Given the description of an element on the screen output the (x, y) to click on. 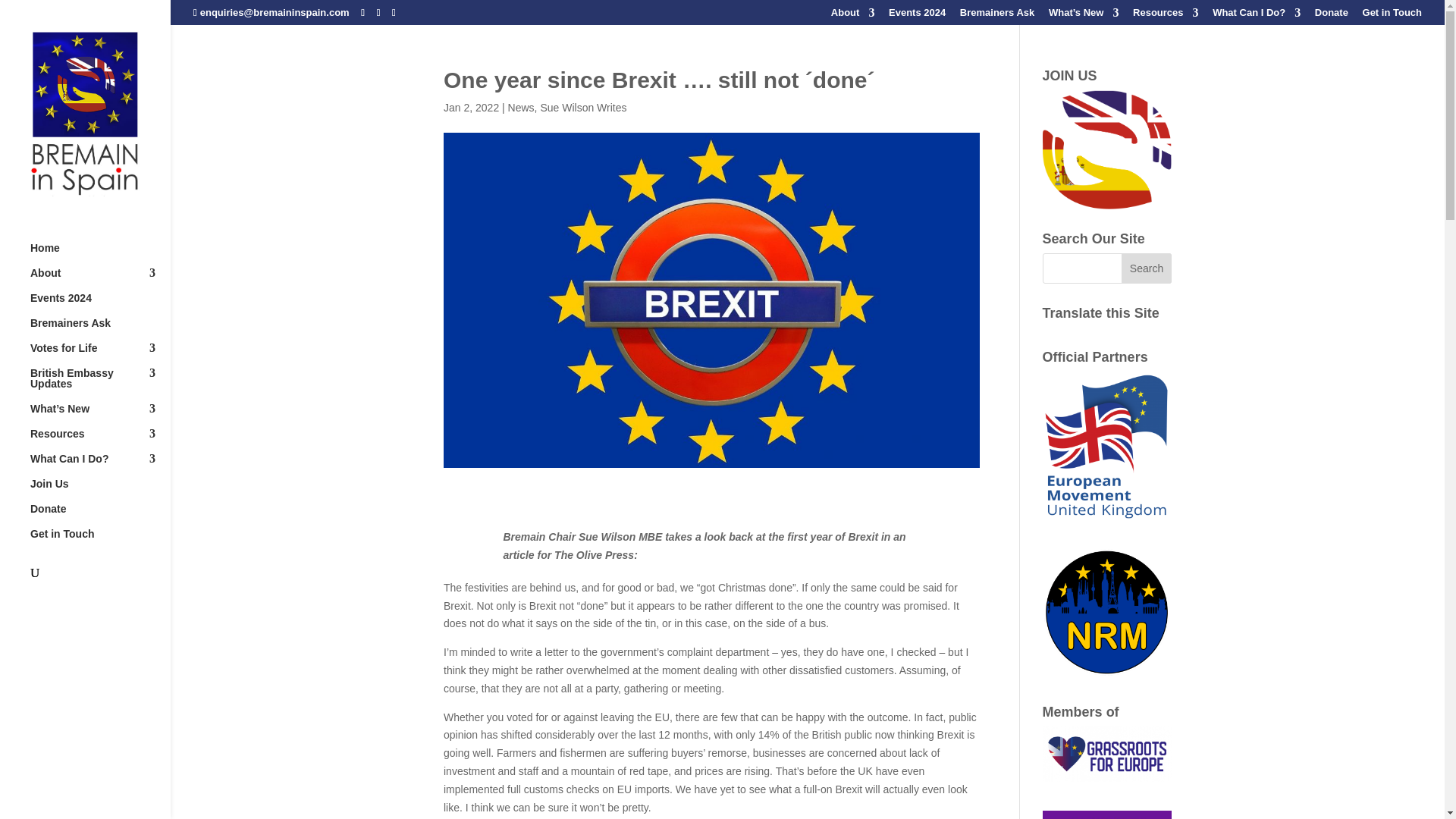
Get in Touch (1392, 16)
About (853, 16)
Bremainers Ask (997, 16)
Resources (1165, 16)
Bremain in Spain (1107, 149)
Search (1146, 268)
Events 2024 (916, 16)
What Can I Do? (1256, 16)
Donate (1331, 16)
